Given the description of an element on the screen output the (x, y) to click on. 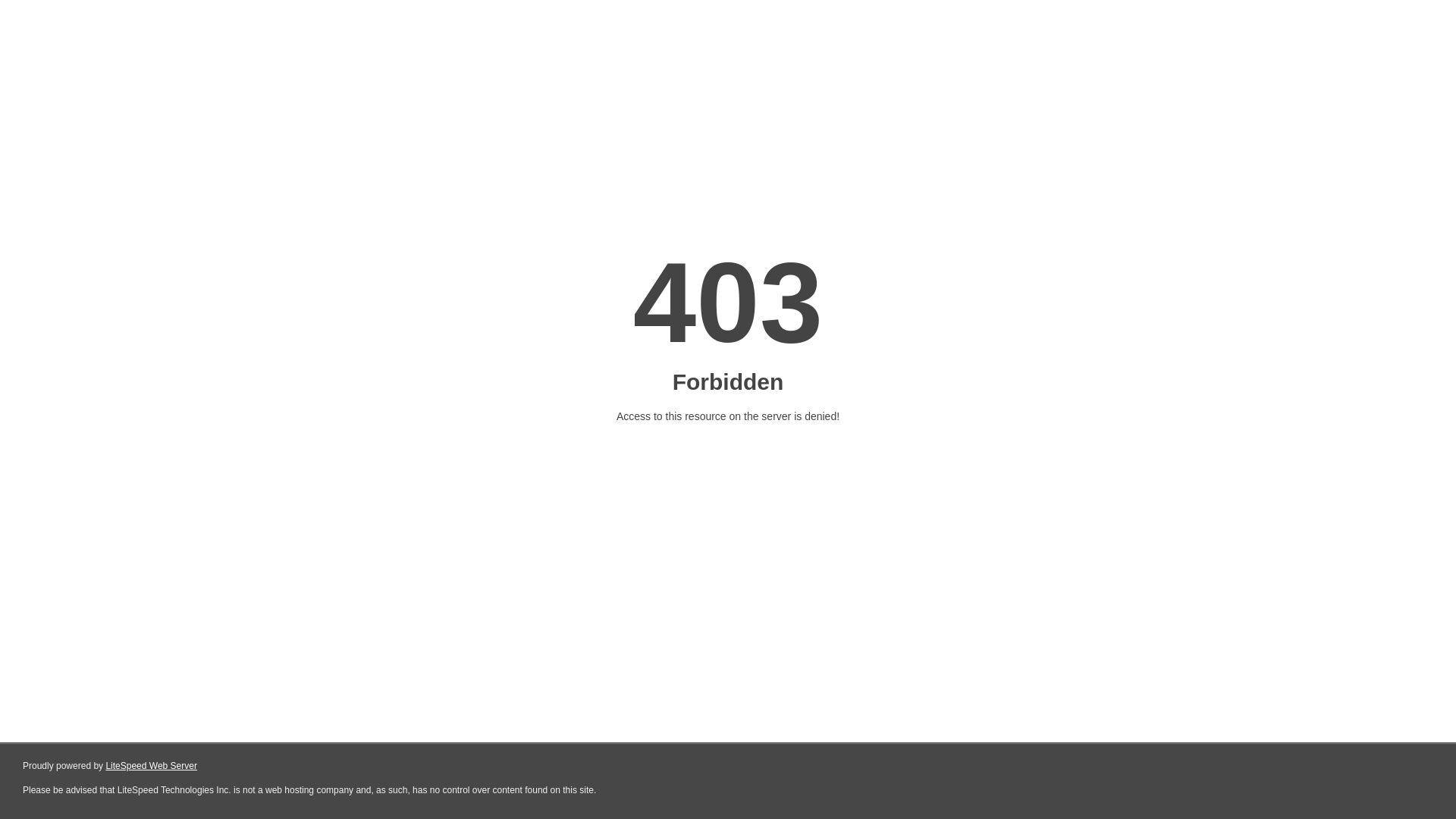
LiteSpeed Web Server Element type: text (151, 765)
